Given the description of an element on the screen output the (x, y) to click on. 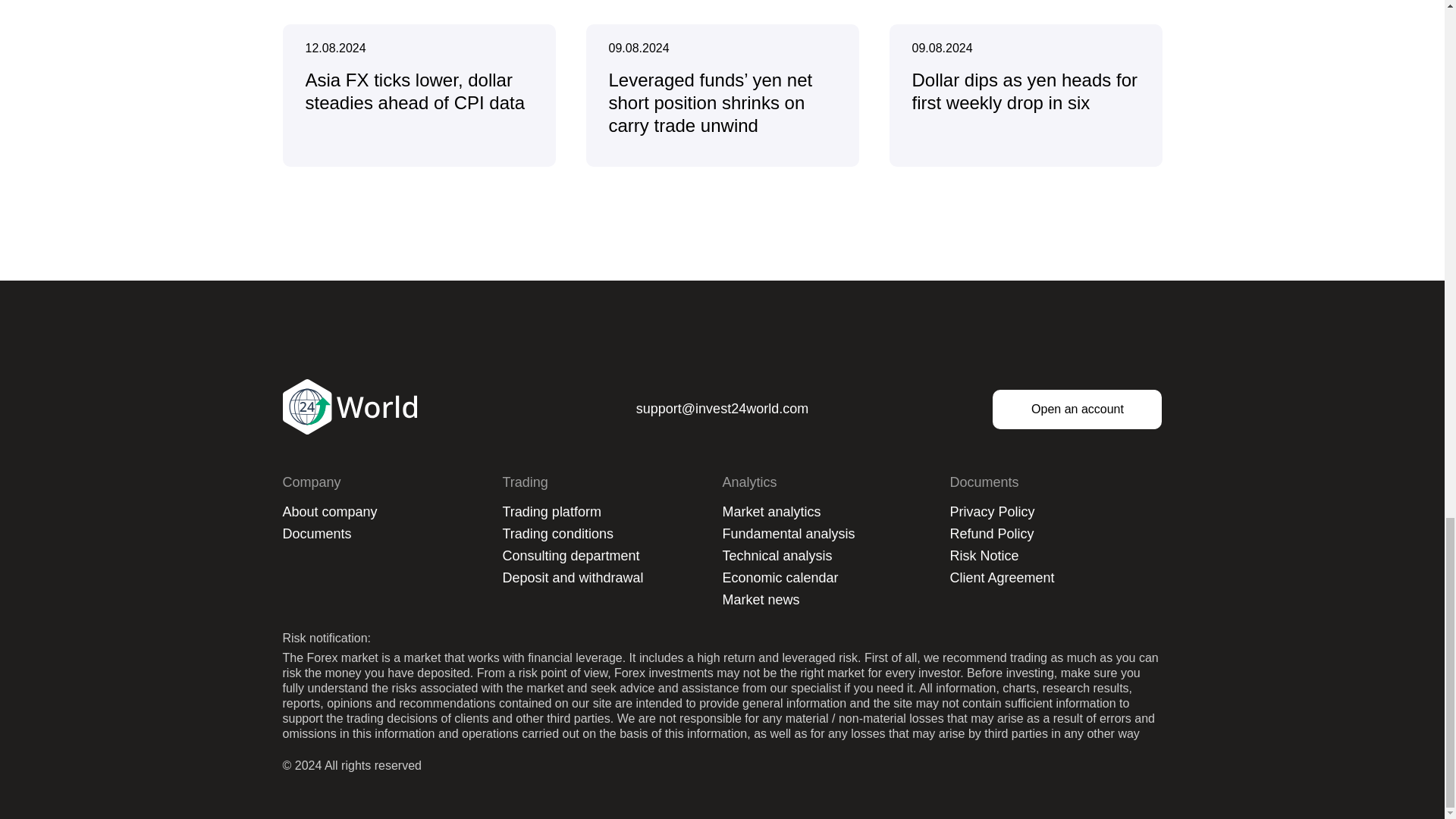
Open an account (1076, 409)
Company (311, 482)
Trading platform (550, 511)
About company (329, 511)
Trading (524, 482)
Trading conditions (557, 533)
Documents (316, 533)
Consulting department (570, 555)
